Given the description of an element on the screen output the (x, y) to click on. 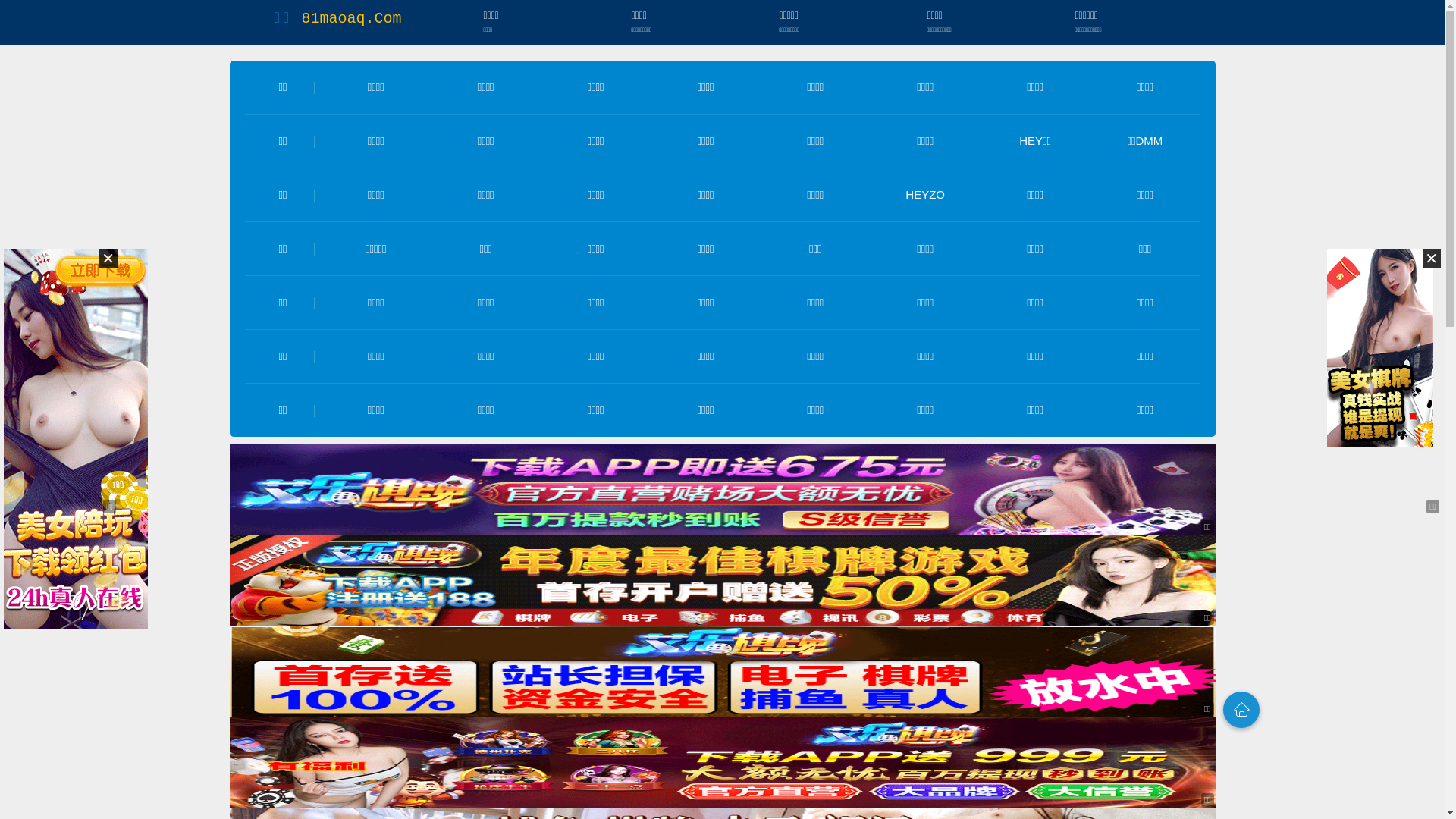
81maoaq.Com Element type: text (351, 18)
HEYZO Element type: text (924, 194)
